Given the description of an element on the screen output the (x, y) to click on. 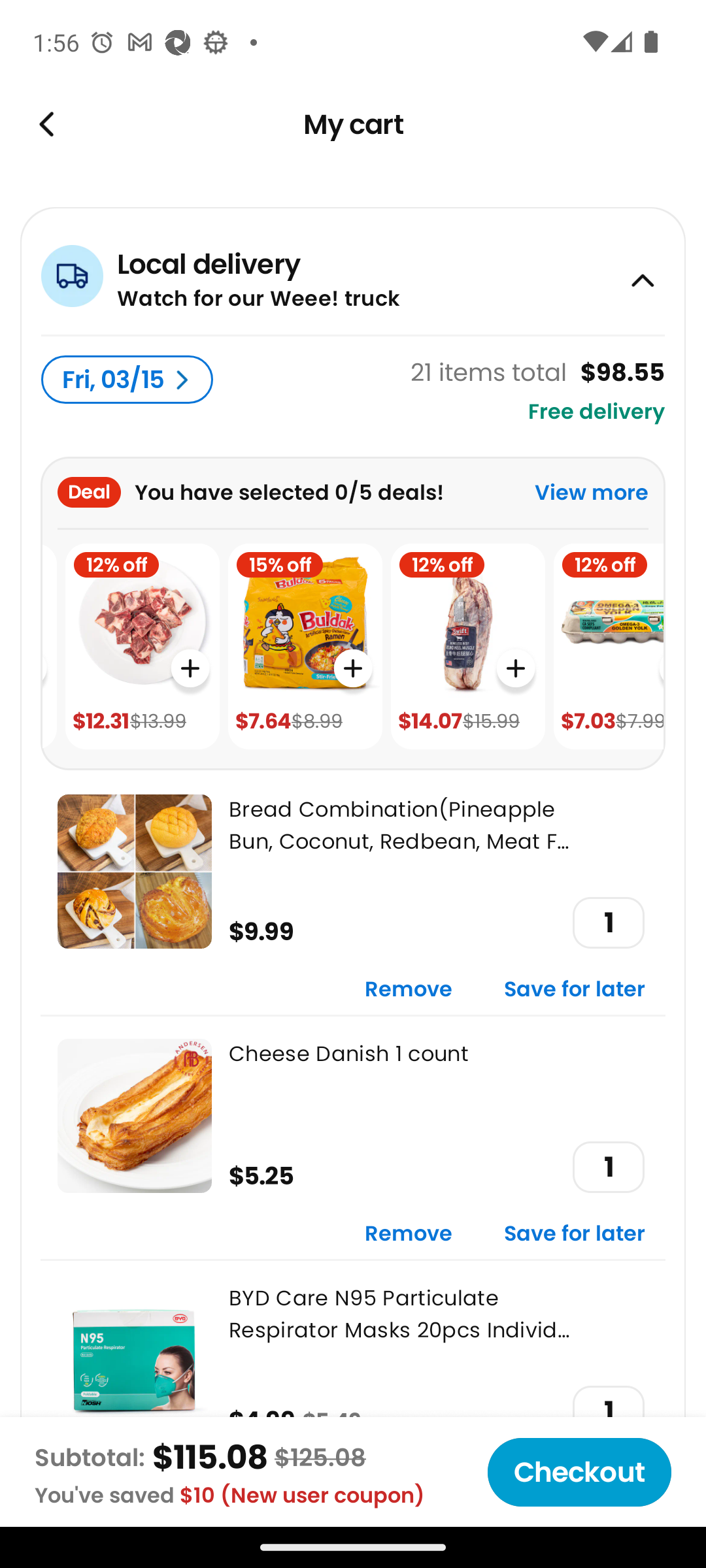
Local delivery Watch for our Weee! truck (352, 269)
Fri, 03/15 (126, 379)
12% off $12.31 $13.99 (142, 646)
15% off $7.64 $8.99 (305, 646)
12% off $14.07 $15.99 (468, 646)
12% off $7.03 $7.99 (608, 646)
1 (608, 922)
Remove (408, 989)
Save for later (574, 989)
1 (608, 1167)
Remove (408, 1234)
Save for later (574, 1234)
Checkout (579, 1471)
